Given the description of an element on the screen output the (x, y) to click on. 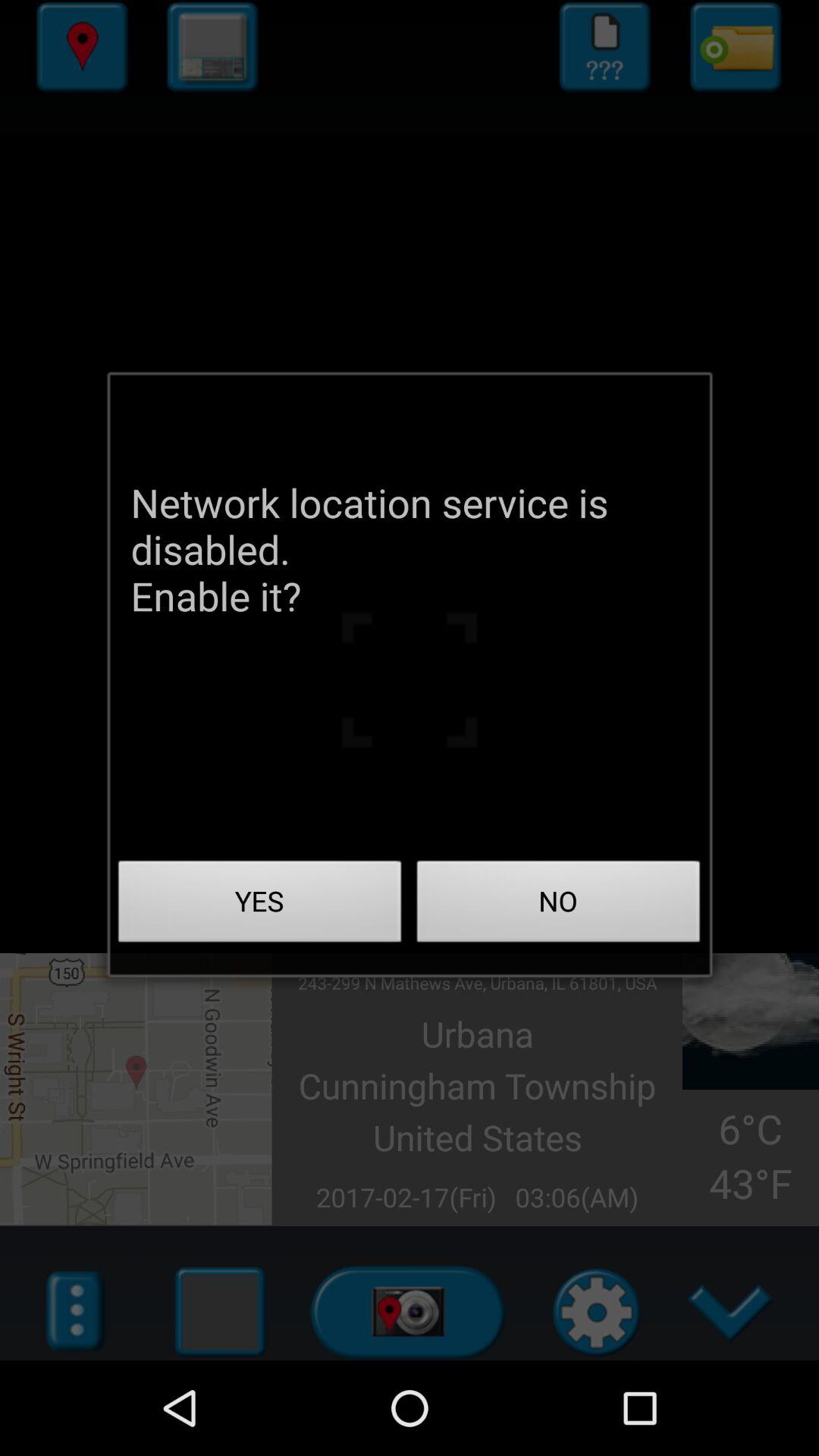
turn on yes (259, 905)
